Given the description of an element on the screen output the (x, y) to click on. 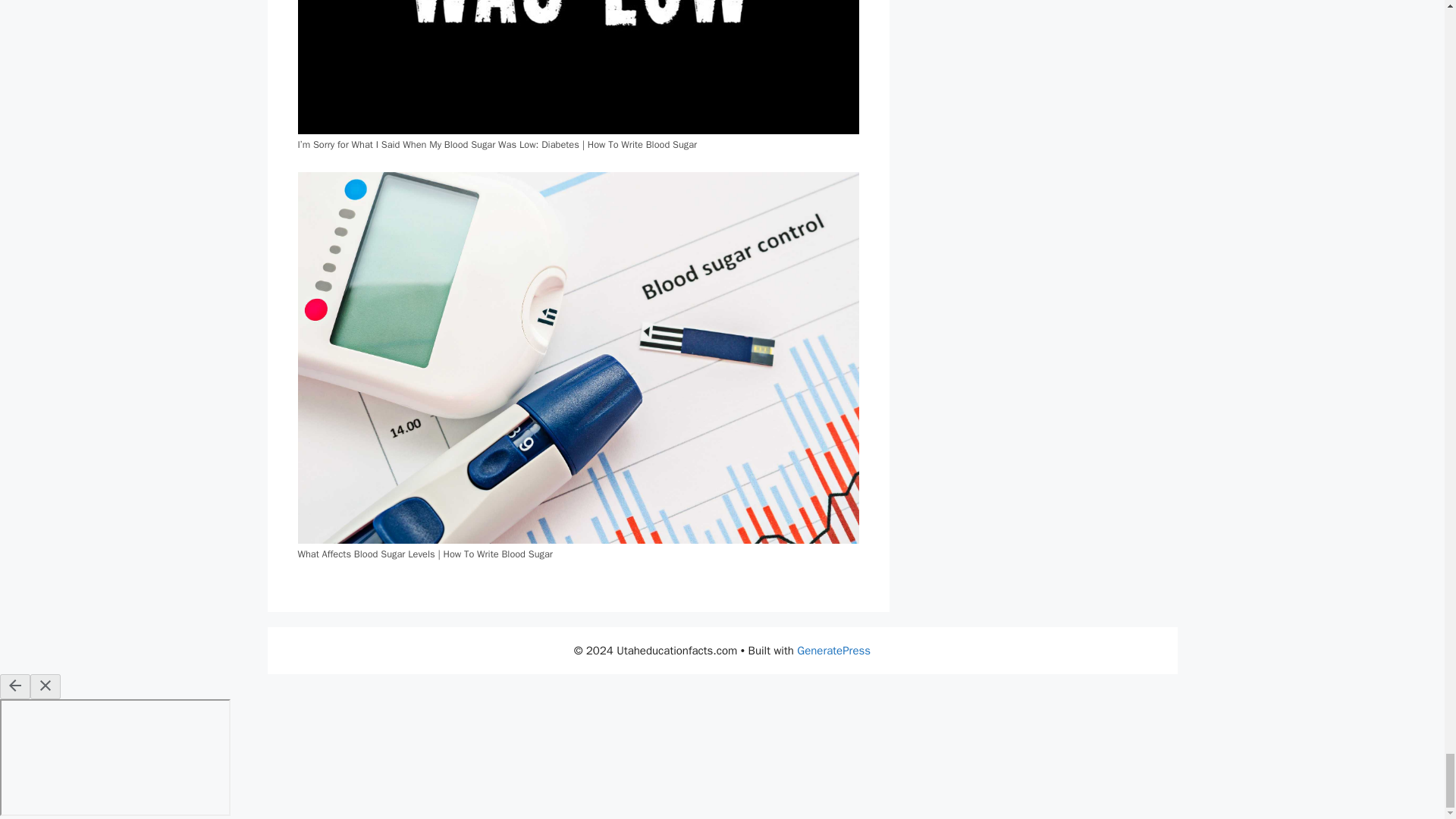
GeneratePress (833, 650)
